Given the description of an element on the screen output the (x, y) to click on. 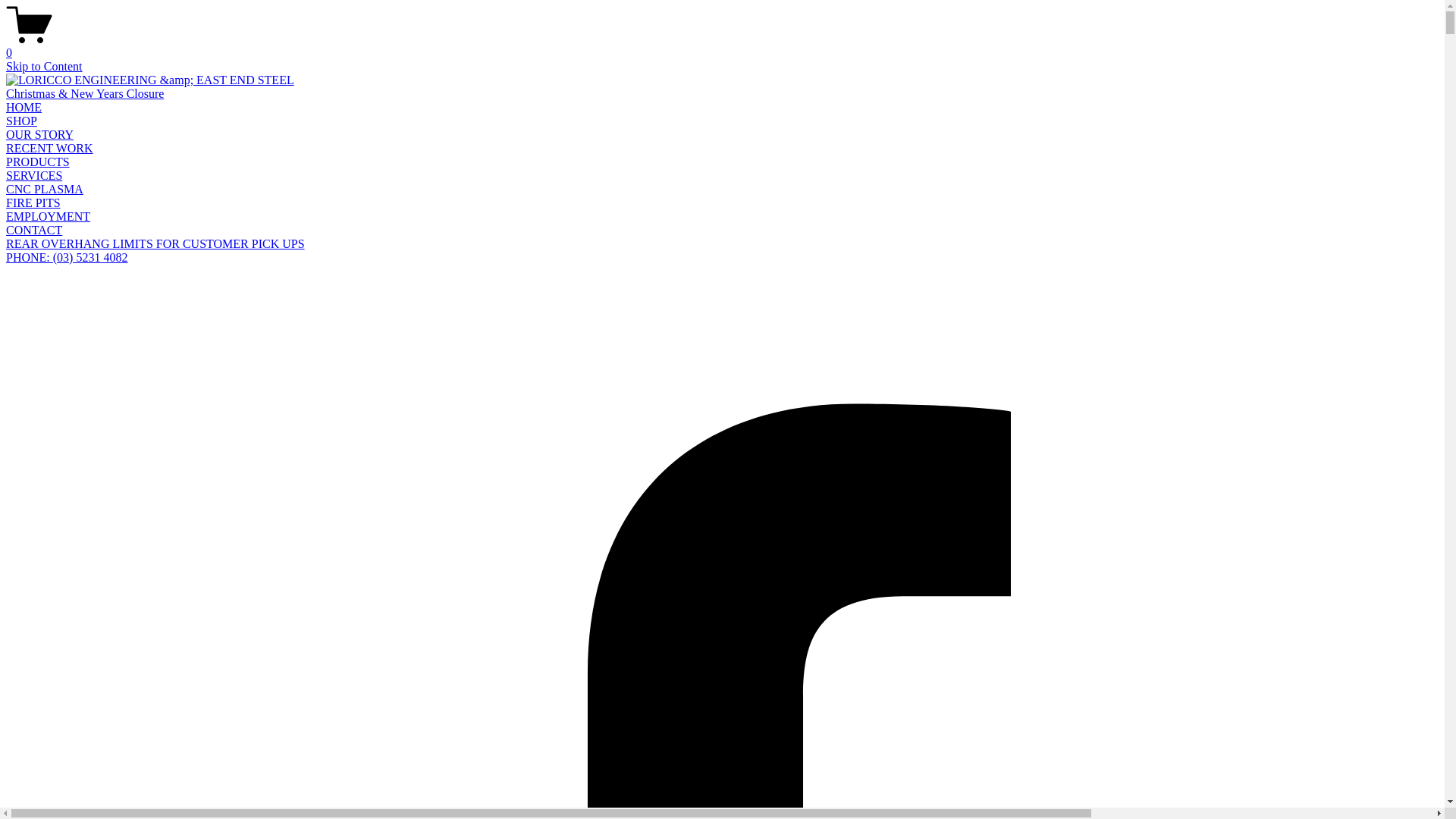
0 Element type: text (722, 45)
CNC PLASMA Element type: text (44, 188)
CONTACT Element type: text (34, 229)
HOME Element type: text (23, 106)
FIRE PITS Element type: text (33, 202)
PRODUCTS Element type: text (37, 161)
EMPLOYMENT Element type: text (48, 216)
SERVICES Element type: text (34, 175)
RECENT WORK Element type: text (49, 147)
Skip to Content Element type: text (43, 65)
PHONE: (03) 5231 4082 Element type: text (66, 257)
REAR OVERHANG LIMITS FOR CUSTOMER PICK UPS Element type: text (155, 243)
Christmas & New Years Closure Element type: text (84, 93)
SHOP Element type: text (21, 120)
OUR STORY Element type: text (39, 134)
